Given the description of an element on the screen output the (x, y) to click on. 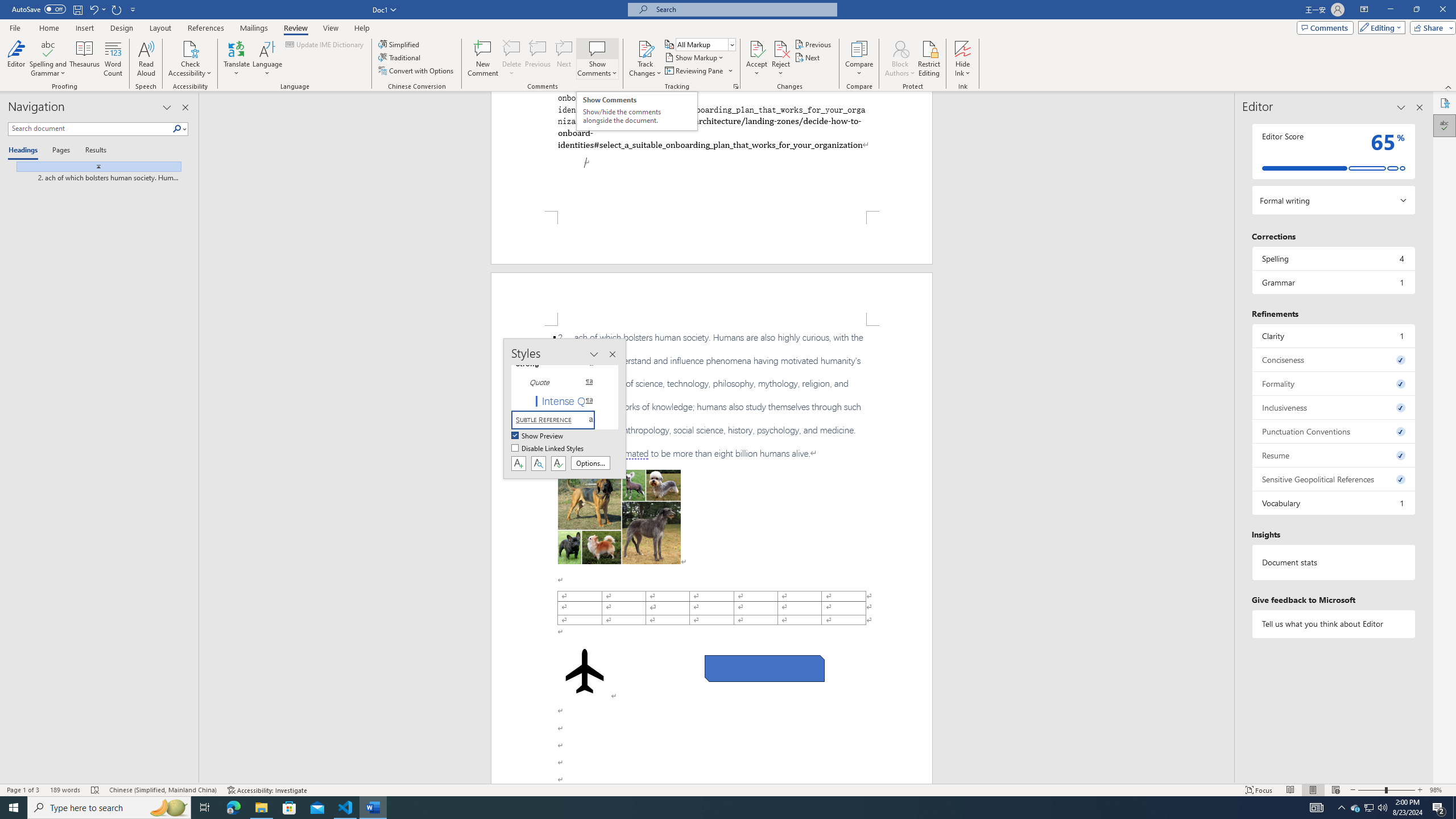
Track Changes (644, 48)
Undo Style (96, 9)
Previous (813, 44)
Compare (859, 58)
Jump to the beginning (94, 166)
Accessibility (1444, 102)
Intense Quote (559, 400)
